Given the description of an element on the screen output the (x, y) to click on. 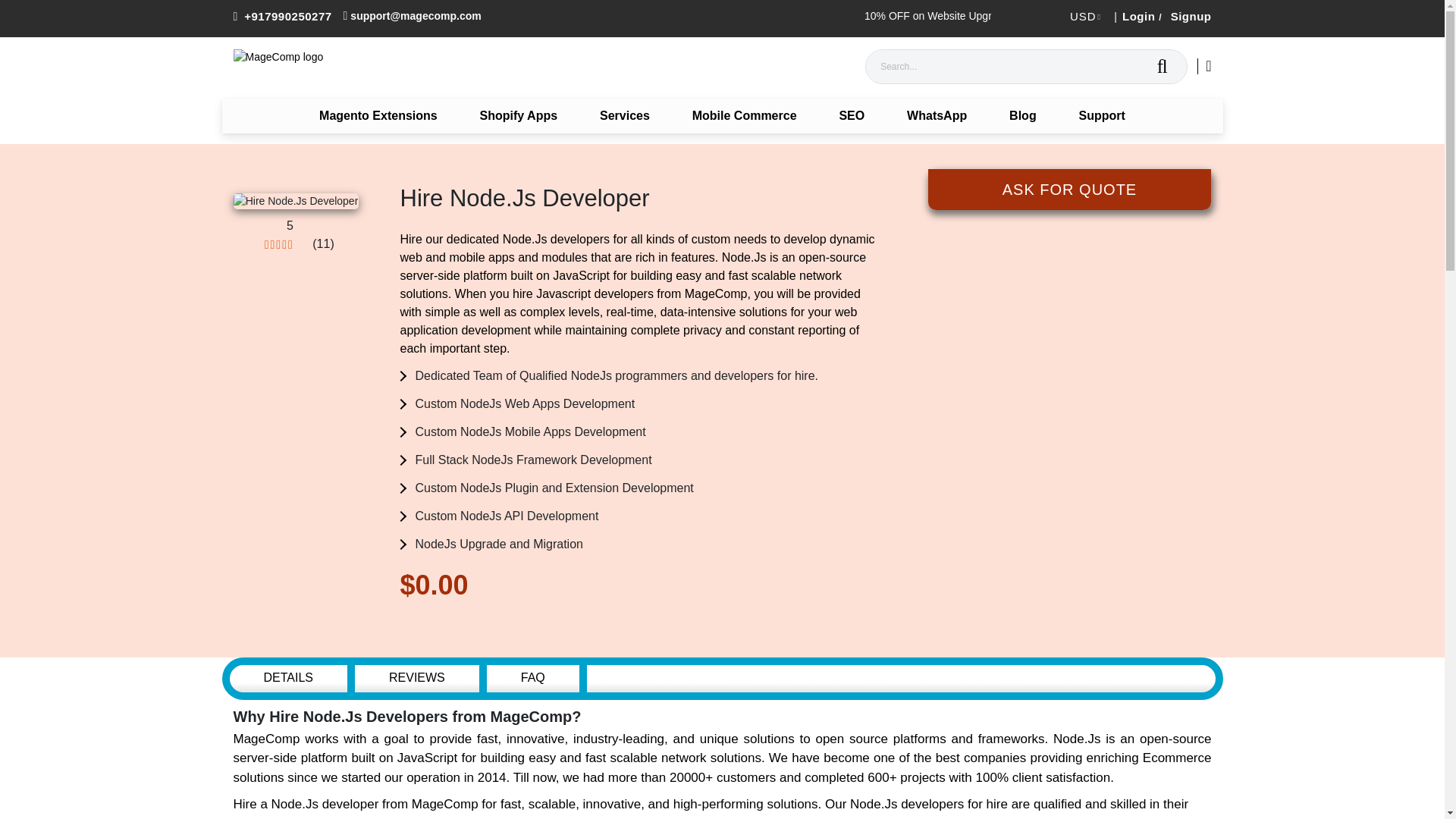
Shopify Apps (519, 115)
Search (1162, 66)
Blog (1023, 115)
Services (624, 115)
SEO (850, 115)
Signup (1189, 16)
Mobile Commerce (744, 115)
Support (1101, 115)
Login (1136, 16)
MageComp logo (327, 67)
WhatsApp (936, 115)
Magento Extensions (378, 115)
